Given the description of an element on the screen output the (x, y) to click on. 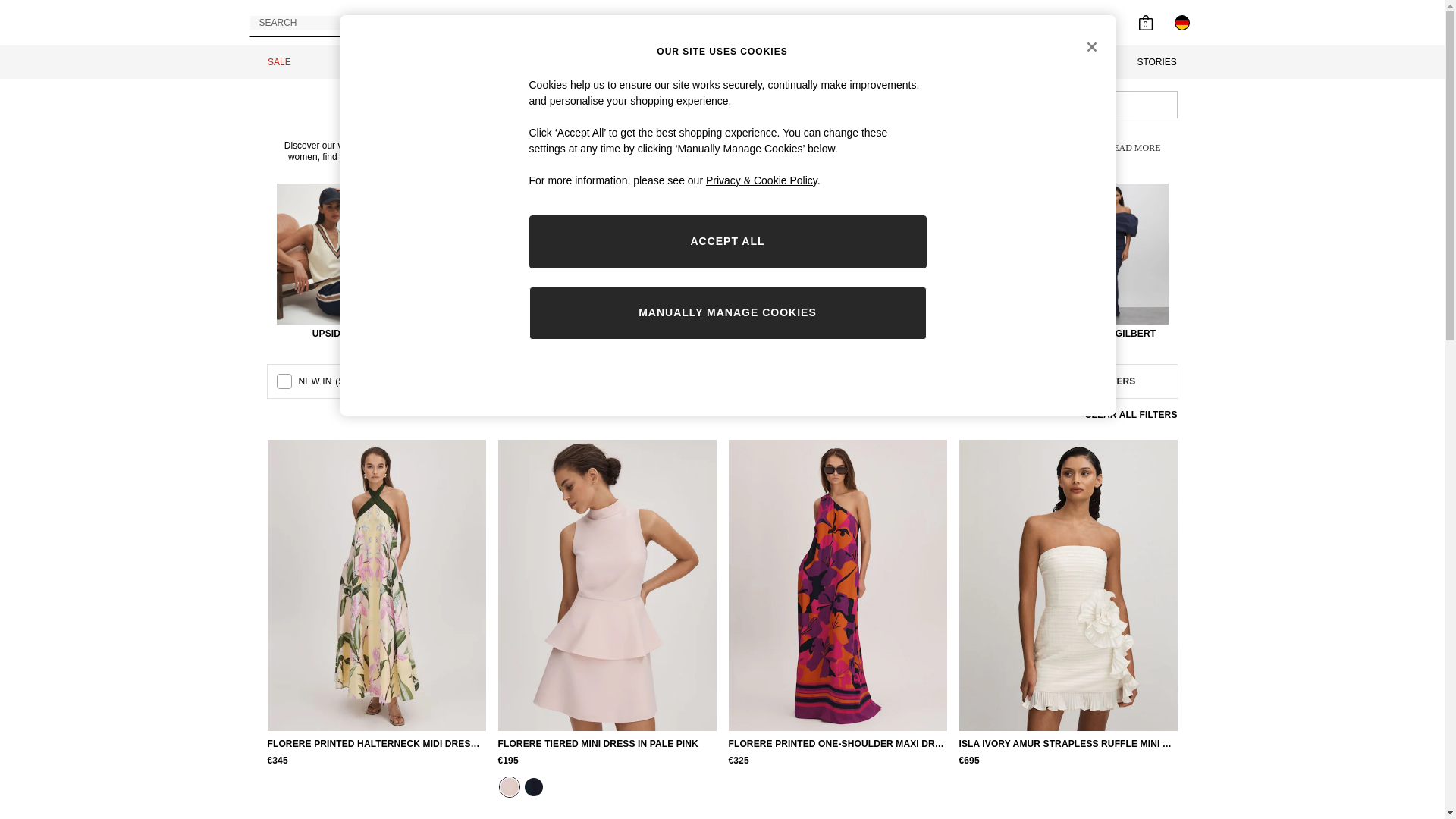
Significant Other (1002, 261)
STORIES (1157, 61)
BRANDS (976, 61)
SIGNIFICANT OTHER (1002, 261)
SALE (279, 61)
GENDER (450, 381)
CHILDREN (793, 61)
SIZE (593, 381)
MEN (619, 61)
STORIES (1157, 61)
WOMEN (450, 61)
Paige (553, 261)
RACHEL GILBERT (1114, 261)
Good American (665, 261)
MORE FILTERS (1102, 381)
